Given the description of an element on the screen output the (x, y) to click on. 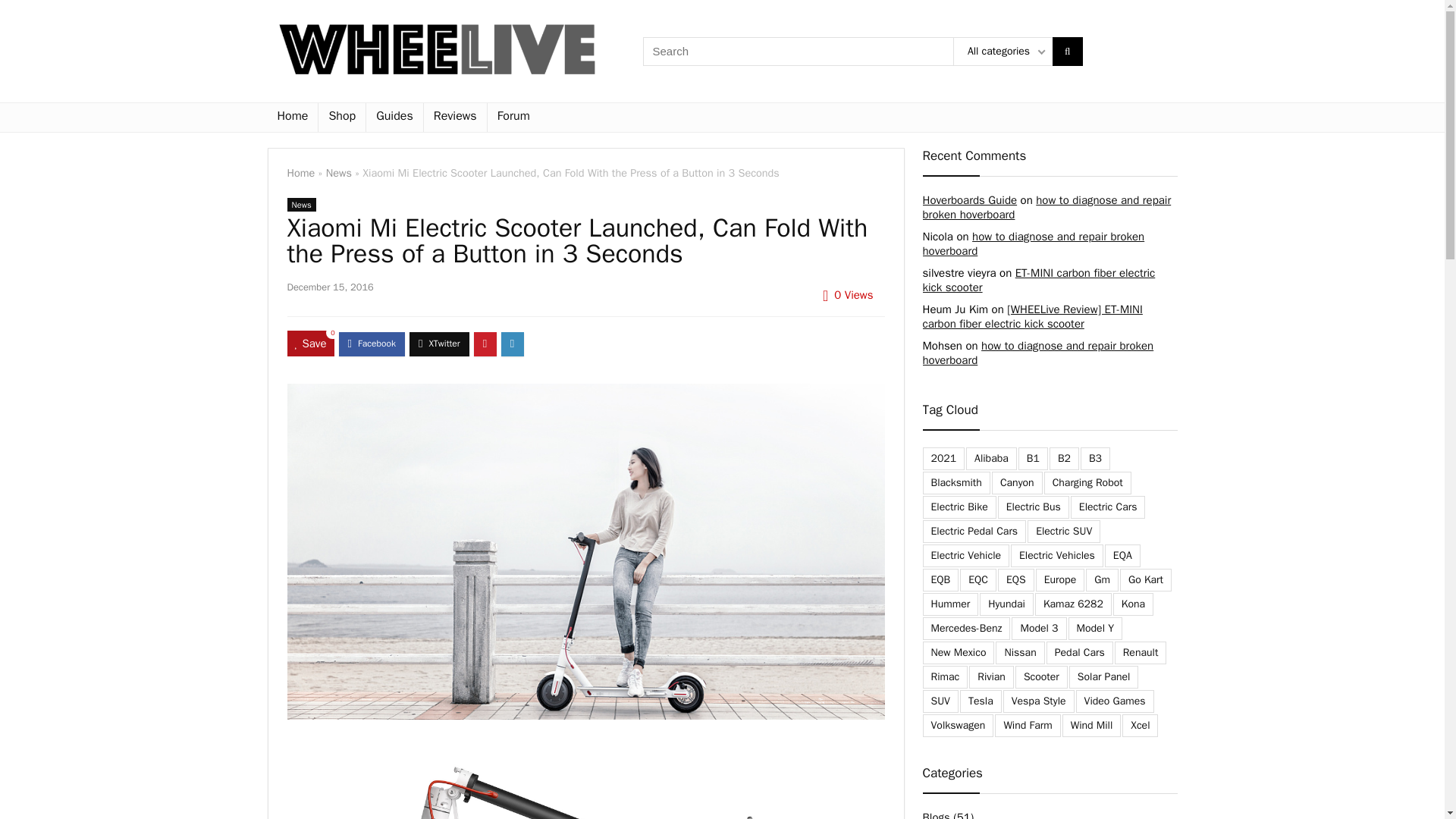
Home (300, 172)
News (339, 172)
how to diagnose and repair broken hoverboard (1037, 352)
News (300, 204)
Alibaba (991, 458)
Shop (341, 117)
B2 (1063, 458)
2021 (942, 458)
ET-MINI carbon fiber electric kick scooter (1037, 280)
View all posts in News (300, 204)
